Given the description of an element on the screen output the (x, y) to click on. 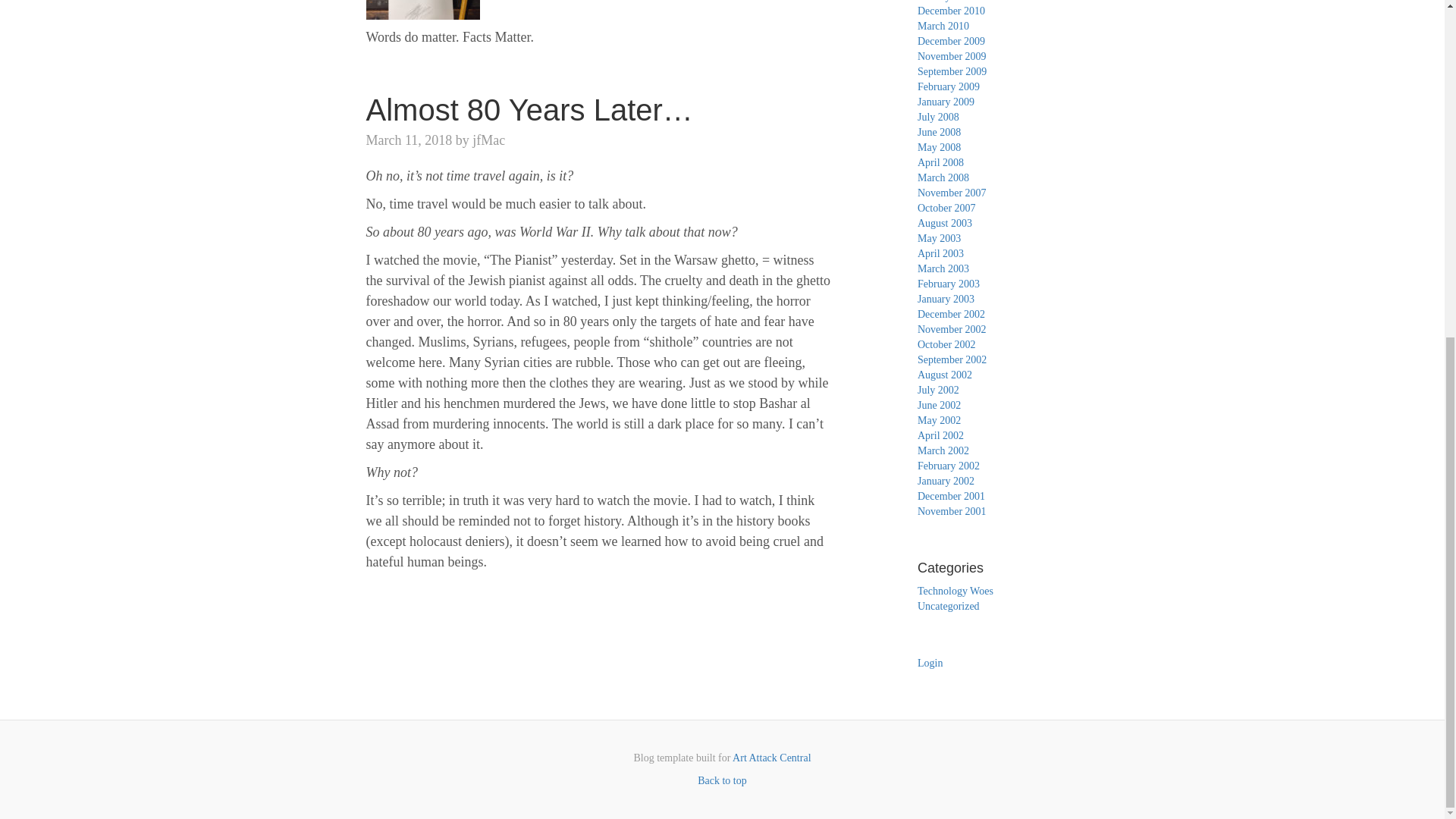
June 2008 (938, 132)
August 2003 (944, 223)
February 2003 (948, 283)
November 2007 (952, 193)
March 2008 (943, 177)
December 2002 (951, 314)
March 2003 (943, 268)
December 2010 (951, 10)
April 2008 (940, 162)
January 2011 (945, 1)
